Given the description of an element on the screen output the (x, y) to click on. 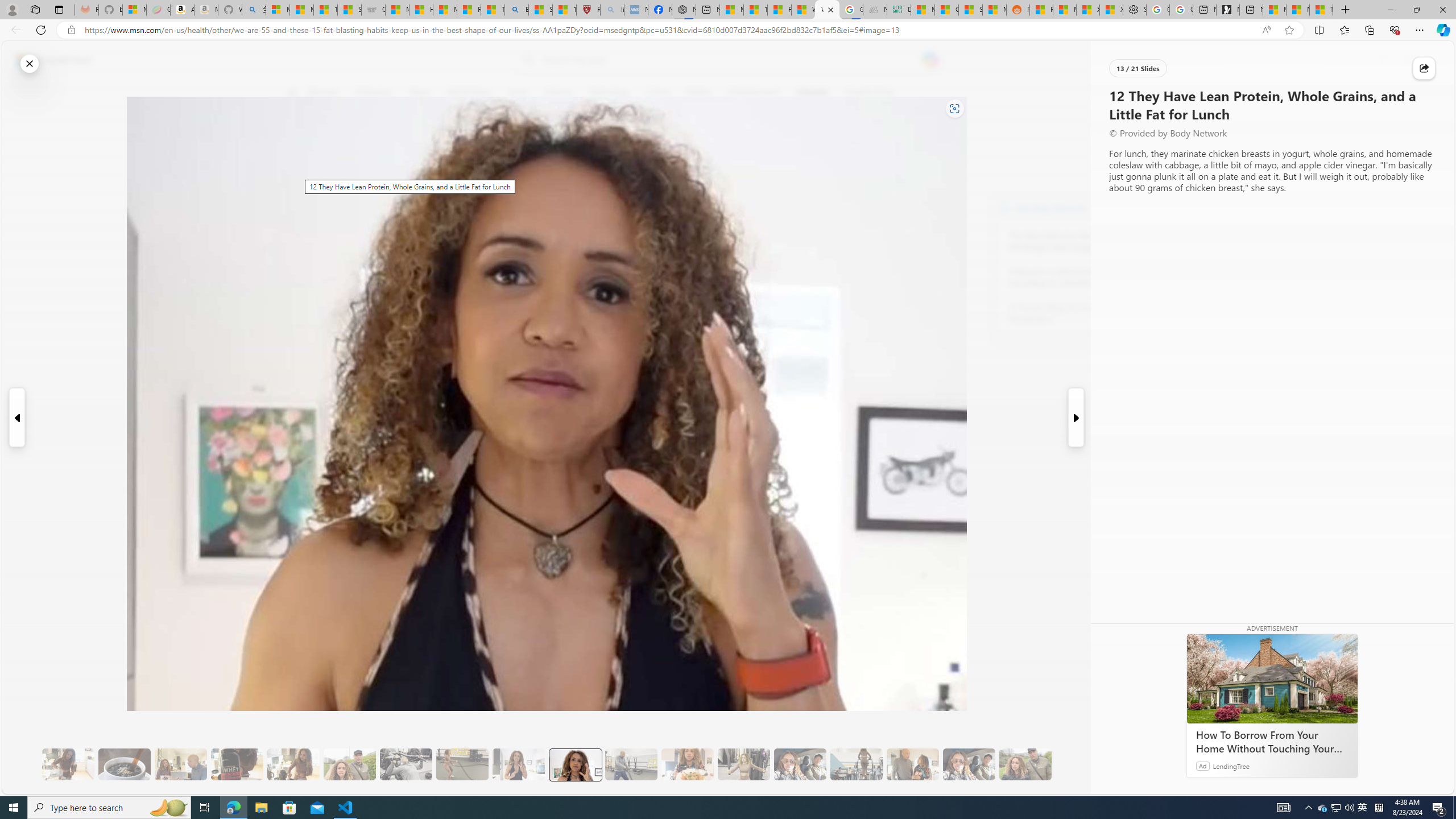
These 3 Stocks Pay You More Than 5% to Own Them (1321, 9)
14 They Have Salmon and Veggies for Dinner (687, 764)
15 They Also Indulge in a Low-Calorie Sweet Treat (743, 764)
8 Be Mindful of Coffee (124, 764)
Entertainment (753, 92)
16 The Couple's Program Helps with Accountability (800, 764)
Recipes - MSN (469, 9)
Body Network (1004, 207)
